Given the description of an element on the screen output the (x, y) to click on. 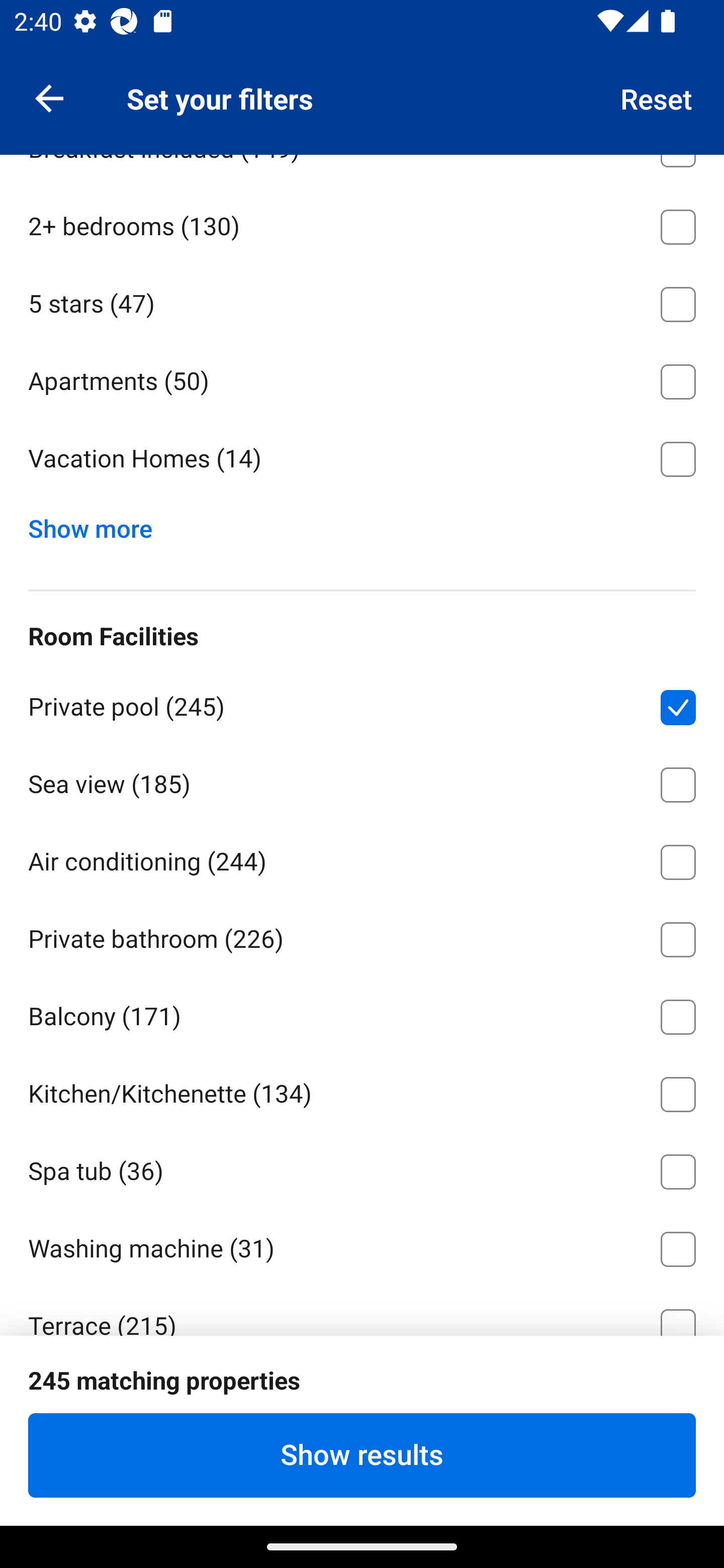
Navigate up (49, 97)
Reset (656, 97)
2+ bedrooms ⁦(130) (361, 223)
5 stars ⁦(47) (361, 300)
Apartments ⁦(50) (361, 378)
Vacation Homes ⁦(14) (361, 459)
Show more (97, 524)
Private pool ⁦(245) (361, 703)
Sea view ⁦(185) (361, 781)
Air conditioning ⁦(244) (361, 858)
Private bathroom ⁦(226) (361, 935)
Balcony ⁦(171) (361, 1013)
Kitchen/Kitchenette ⁦(134) (361, 1091)
Spa tub ⁦(36) (361, 1168)
Washing machine ⁦(31) (361, 1245)
Terrace ⁦(215) (361, 1309)
Kitchenette ⁦(70) (361, 1400)
Show results (361, 1454)
View ⁦(203) (361, 1477)
Bathtub ⁦(53) (361, 1542)
